Given the description of an element on the screen output the (x, y) to click on. 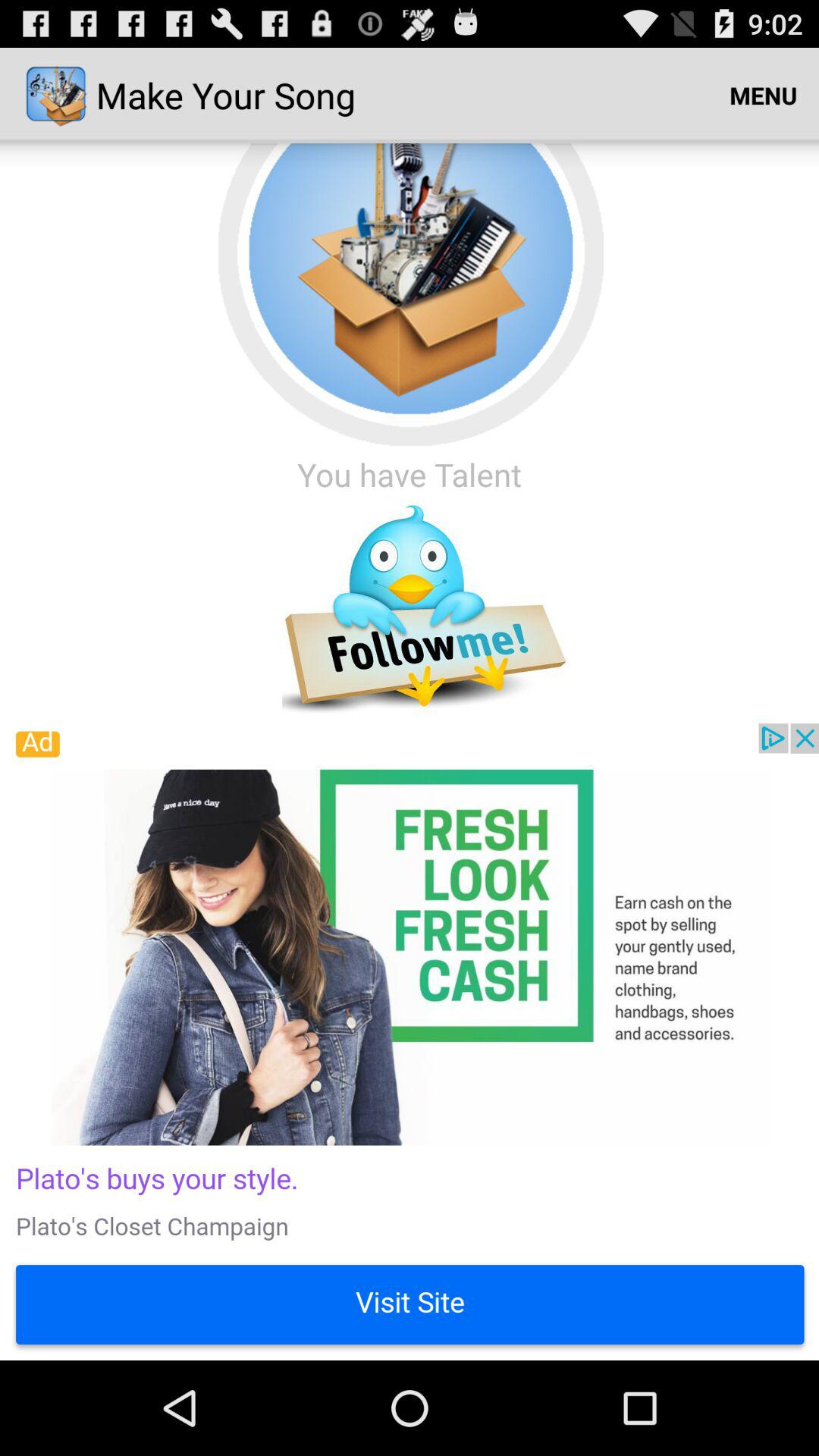
visit plato 's closet (409, 1041)
